Given the description of an element on the screen output the (x, y) to click on. 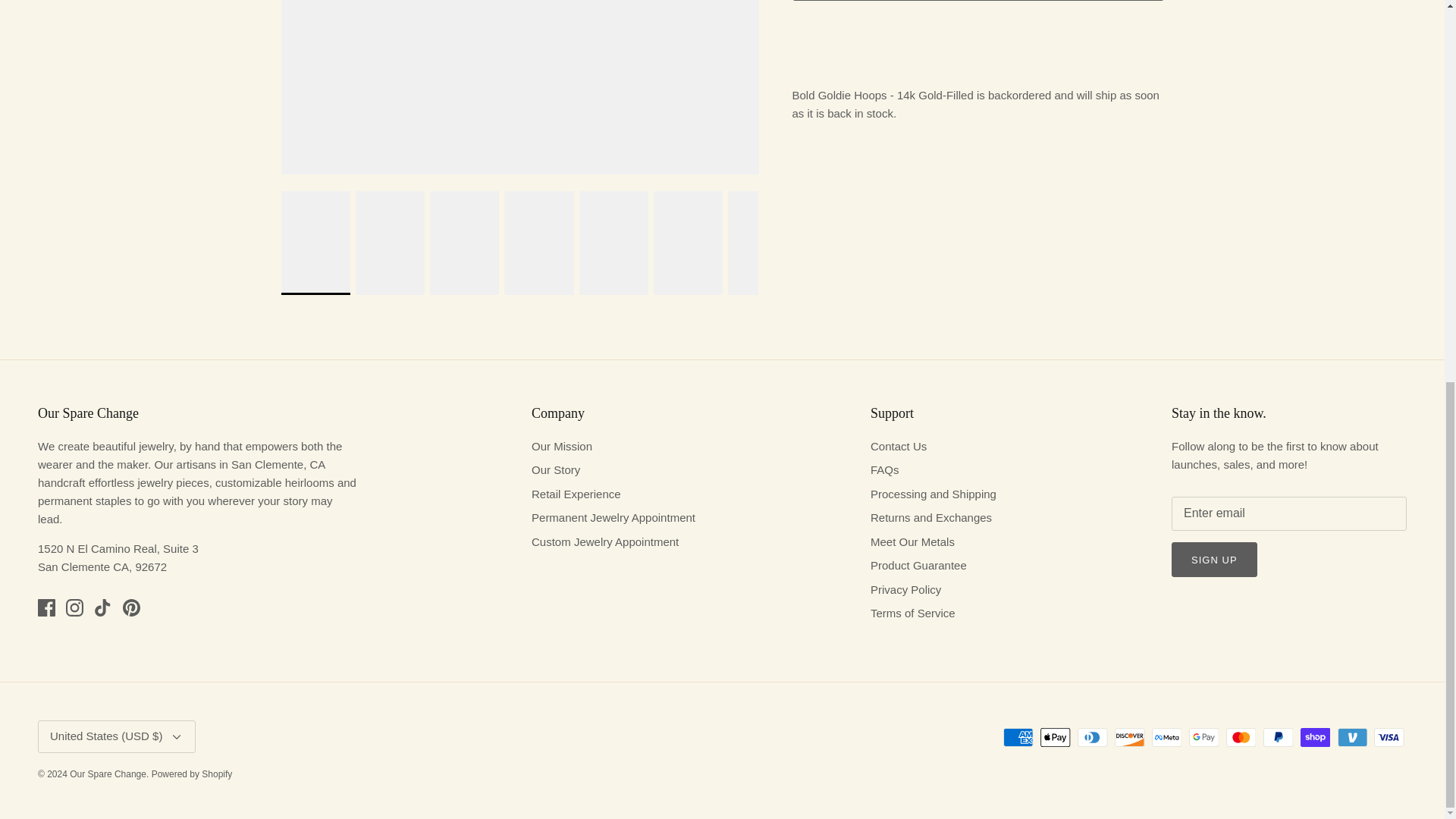
Diners Club (1092, 737)
Apple Pay (1055, 737)
American Express (1018, 737)
Pinterest (130, 607)
Meta Pay (1166, 737)
Discover (1129, 737)
Instagram (73, 607)
Facebook (46, 607)
